Given the description of an element on the screen output the (x, y) to click on. 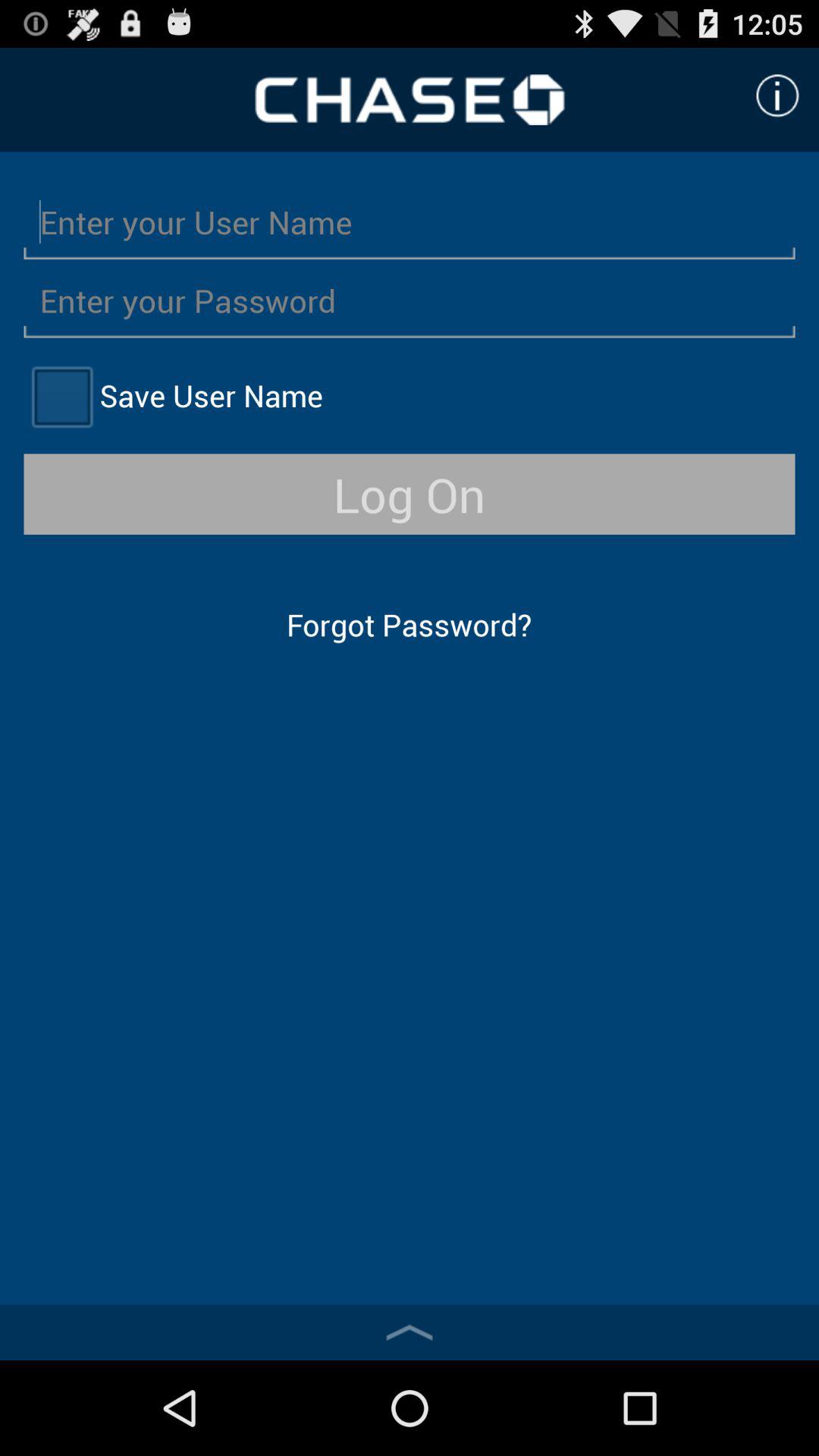
press icon at the top right corner (777, 95)
